Given the description of an element on the screen output the (x, y) to click on. 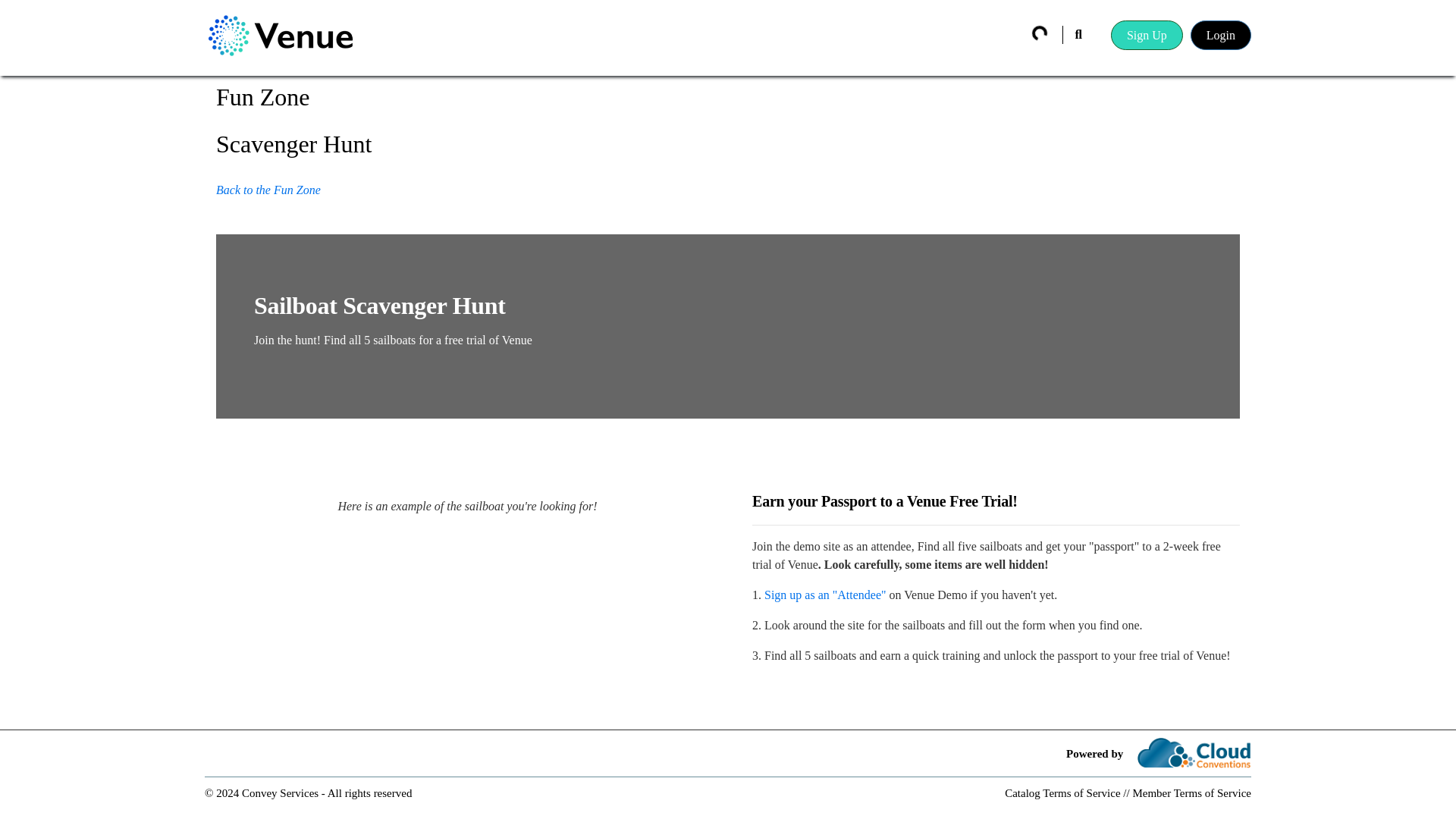
Login (1220, 34)
Catalog Terms of Service (1061, 793)
Sign up as an "Attendee" (825, 594)
Sign Up (1146, 34)
Back to the Fun Zone (267, 189)
Member Terms of Service (1191, 793)
